Given the description of an element on the screen output the (x, y) to click on. 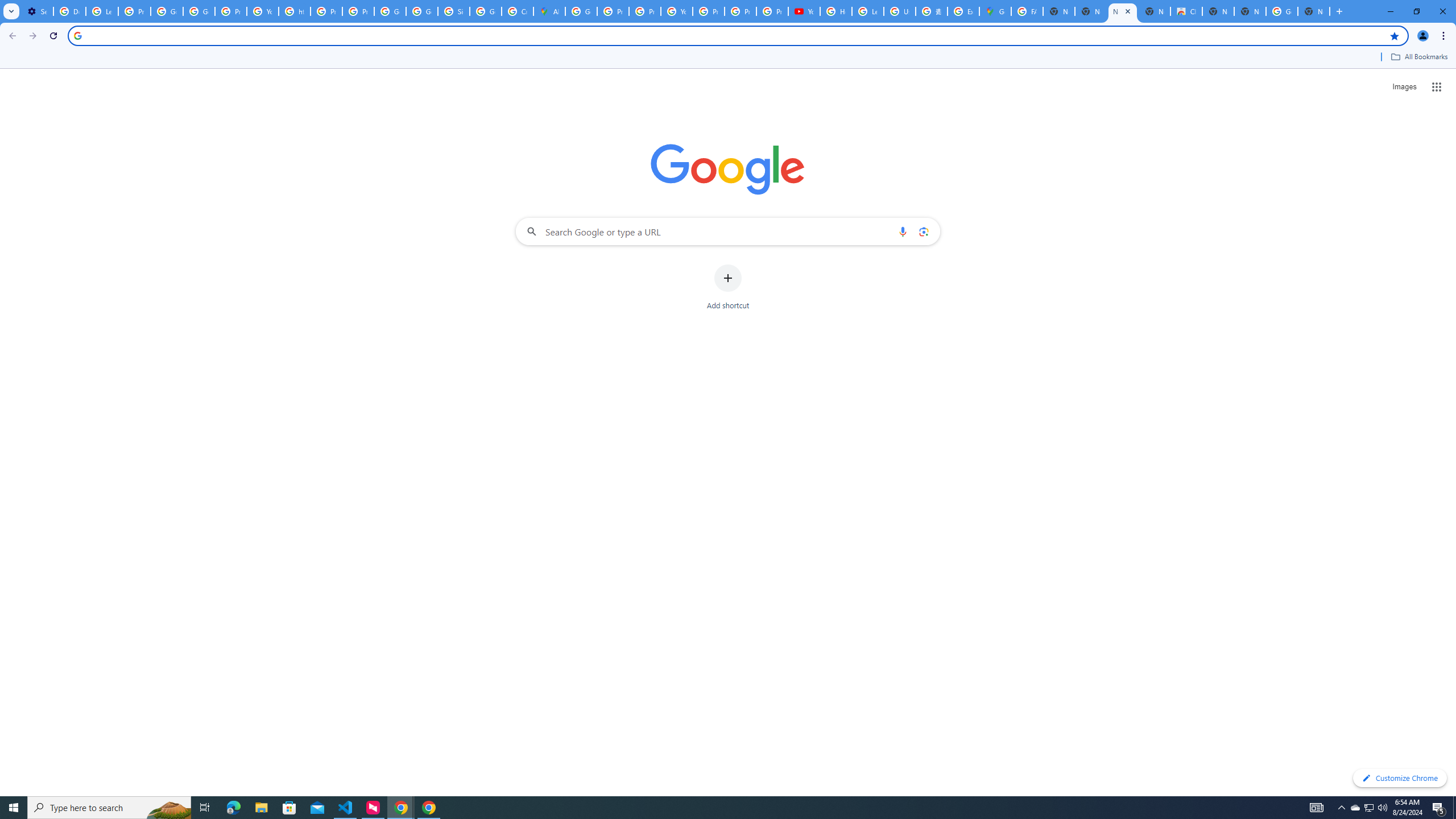
Add shortcut (727, 287)
YouTube (262, 11)
New Tab (1313, 11)
Explore new street-level details - Google Maps Help (963, 11)
Search Google or type a URL (727, 230)
